Given the description of an element on the screen output the (x, y) to click on. 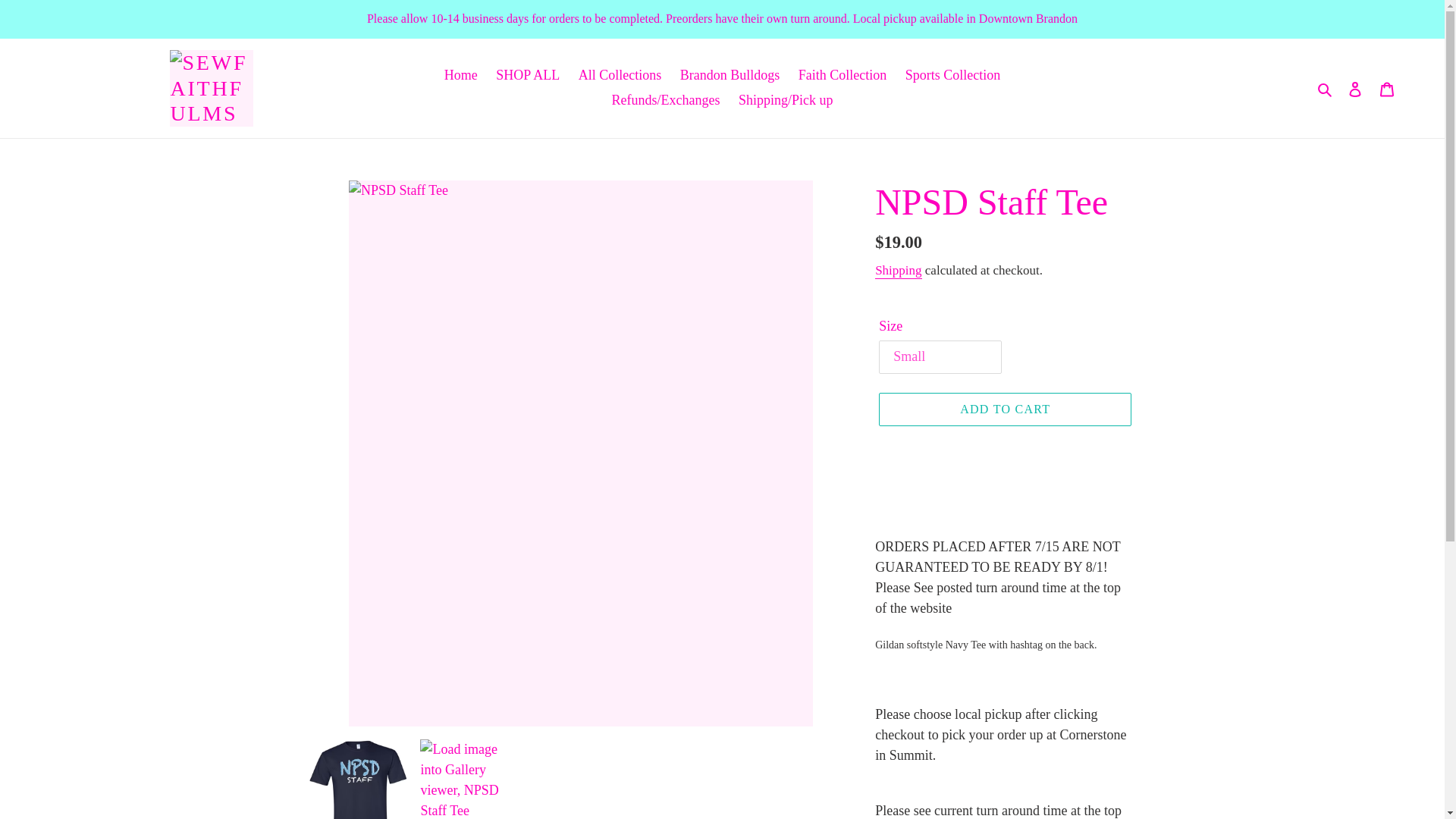
ADD TO CART (1005, 409)
Log in (1355, 88)
Search (1326, 87)
All Collections (619, 75)
SHOP ALL (527, 75)
Home (460, 75)
Shipping (898, 270)
Faith Collection (842, 75)
Sports Collection (953, 75)
Cart (1387, 88)
